Given the description of an element on the screen output the (x, y) to click on. 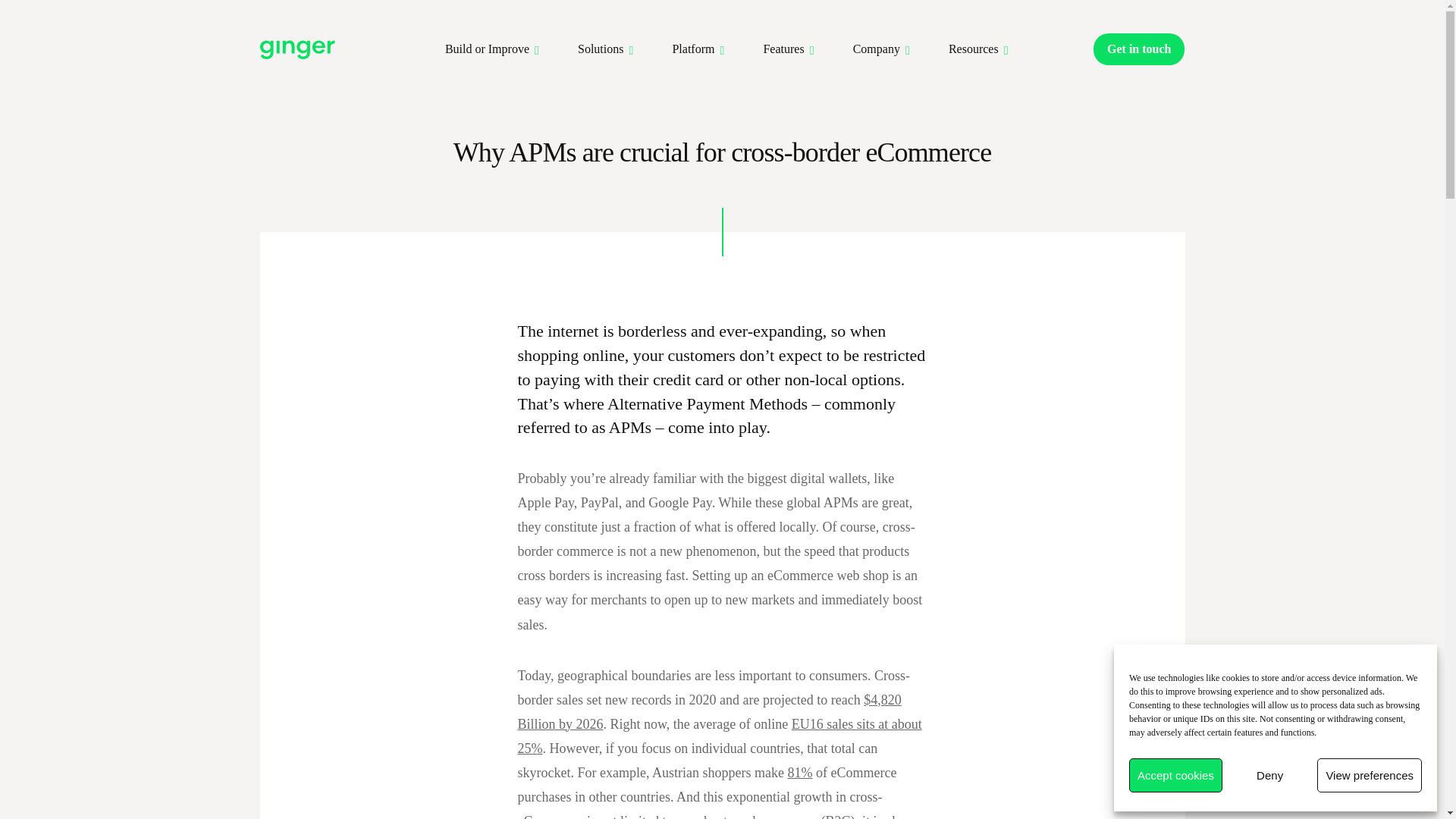
Build or Improve (487, 48)
Get in touch (1139, 49)
Company (876, 48)
Resources (973, 48)
Deny (1269, 775)
Platform (692, 48)
Get in touch (1139, 49)
Solutions (600, 48)
Accept cookies (1176, 775)
View preferences (1369, 775)
